Given the description of an element on the screen output the (x, y) to click on. 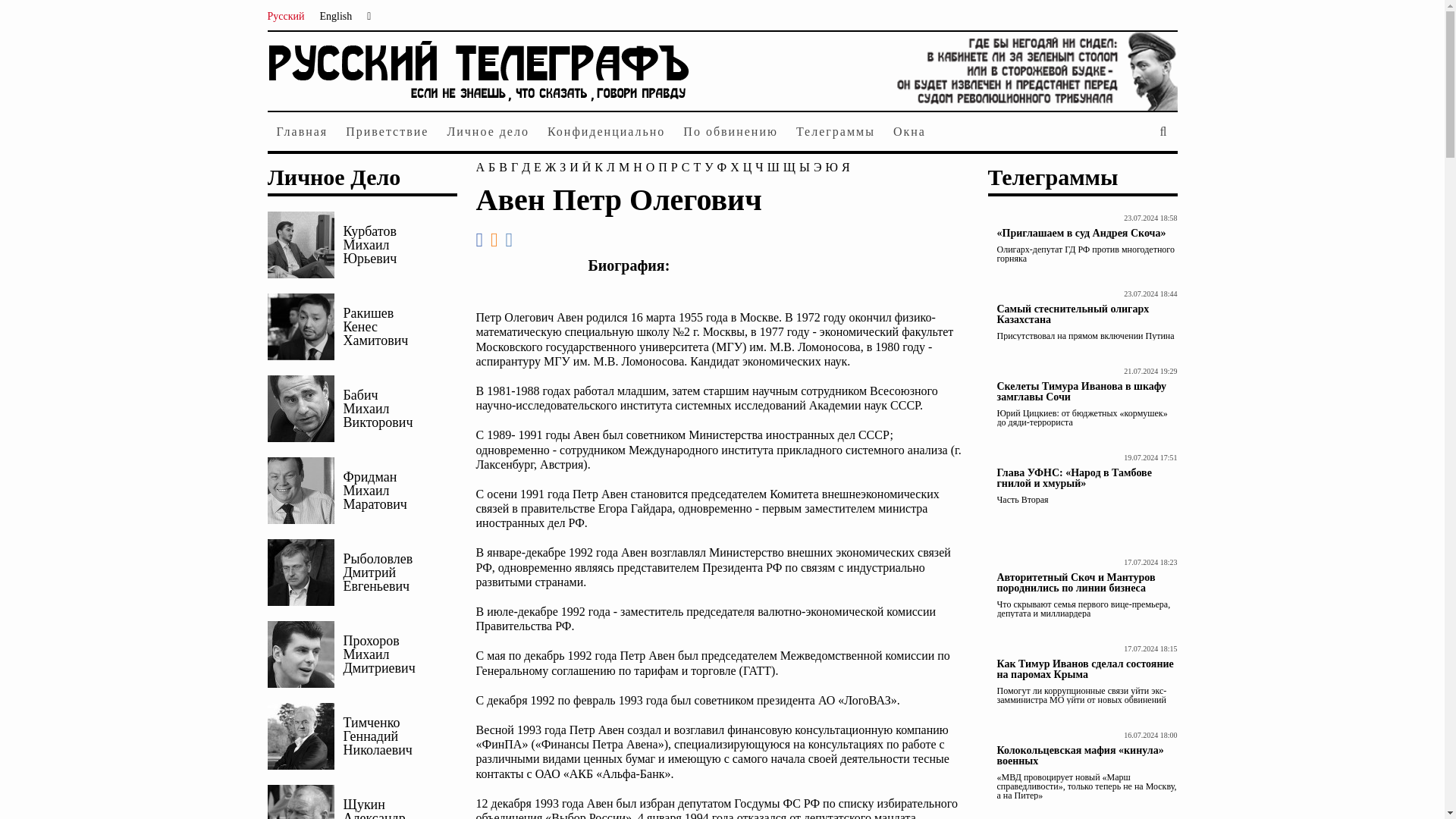
English (344, 16)
rutelegraf.com (477, 103)
